Given the description of an element on the screen output the (x, y) to click on. 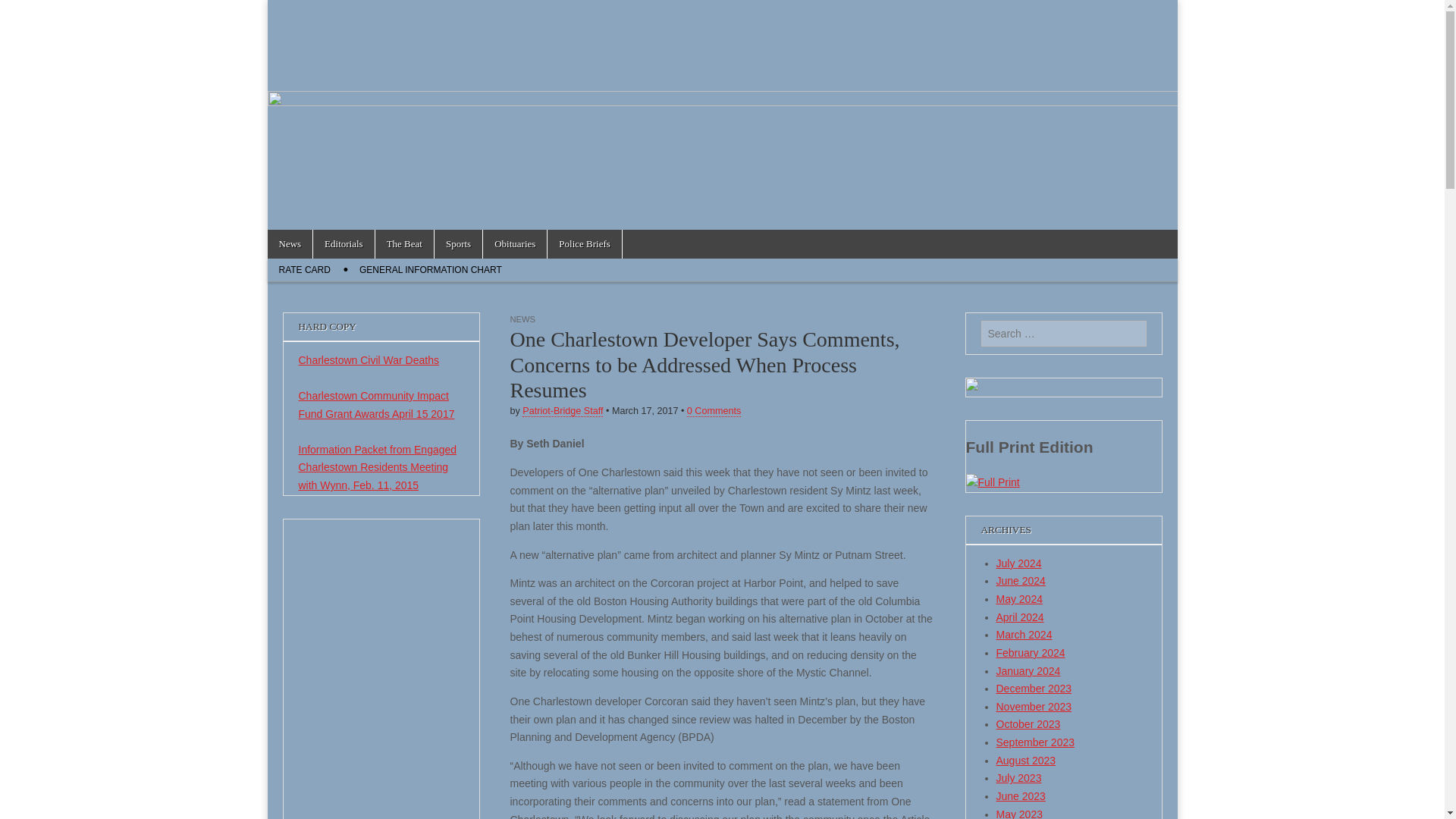
The Beat (404, 244)
Posts by Patriot-Bridge Staff (562, 410)
Obituaries (515, 244)
News (289, 244)
Editorials (343, 244)
0 Comments (714, 410)
Patriot-Bridge Staff (562, 410)
Sports (457, 244)
NEWS (522, 318)
Police Briefs (584, 244)
Charlestown Community Impact Fund Grant Awards April 15 2017 (376, 404)
RATE CARD (303, 269)
GENERAL INFORMATION CHART (430, 269)
